Given the description of an element on the screen output the (x, y) to click on. 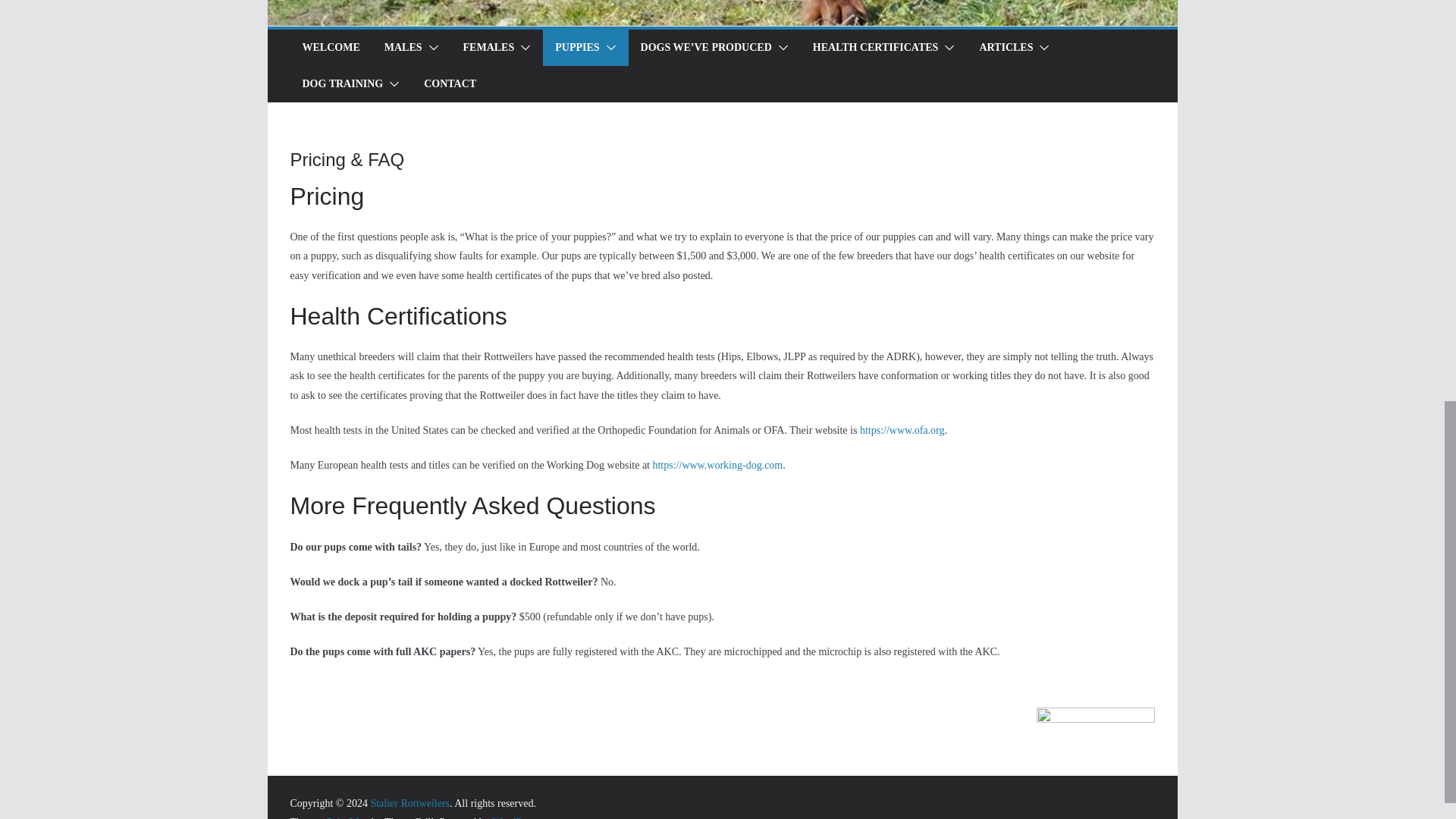
HEALTH CERTIFICATES (875, 47)
Stalter Rottweilers (409, 803)
WordPress (514, 817)
FEMALES (489, 47)
MALES (403, 47)
PUPPIES (576, 47)
ColorMag (346, 817)
WELCOME (330, 47)
